Given the description of an element on the screen output the (x, y) to click on. 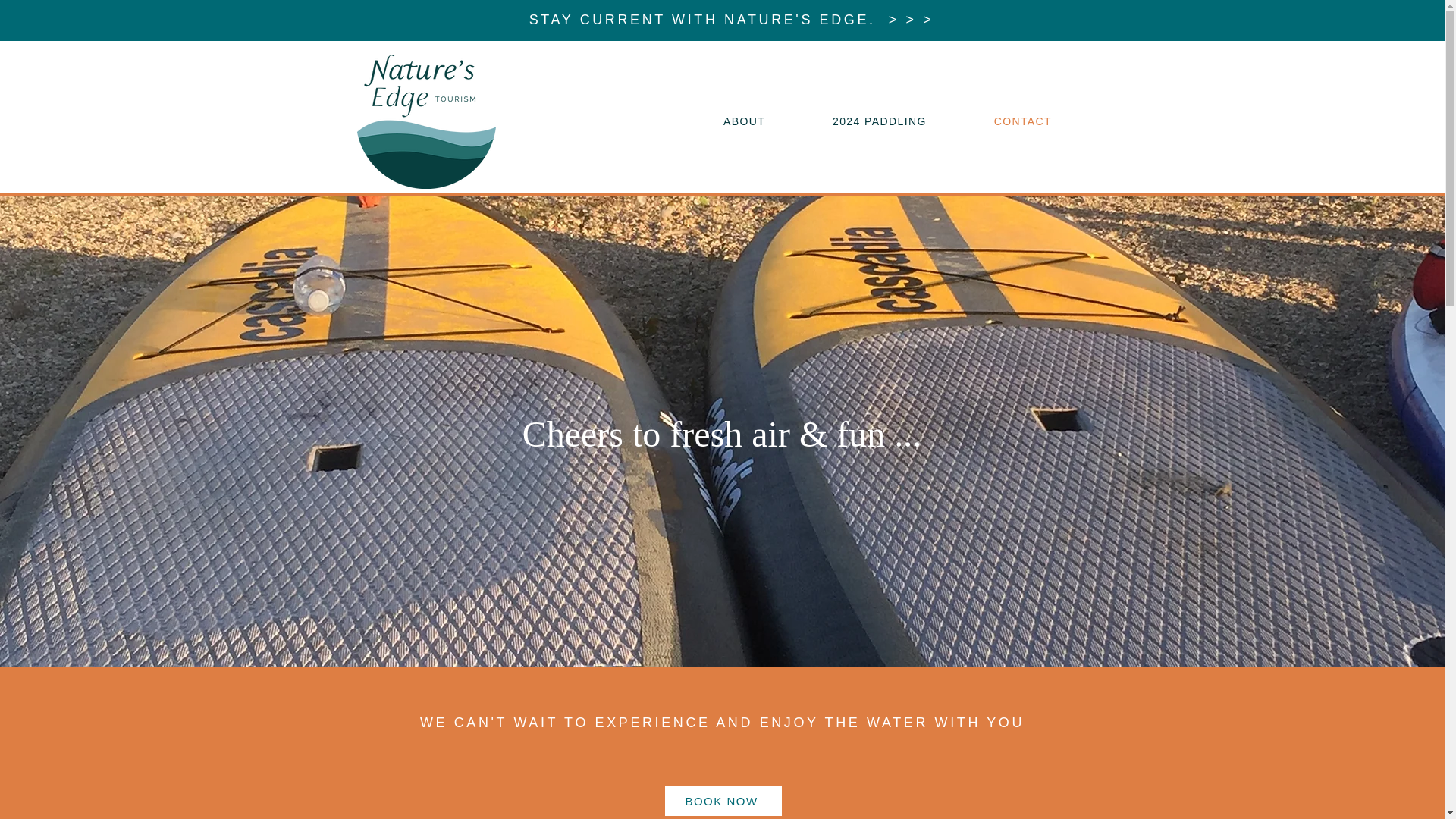
BOOK NOW (721, 800)
CONTACT (1021, 121)
ABOUT (744, 121)
